Given the description of an element on the screen output the (x, y) to click on. 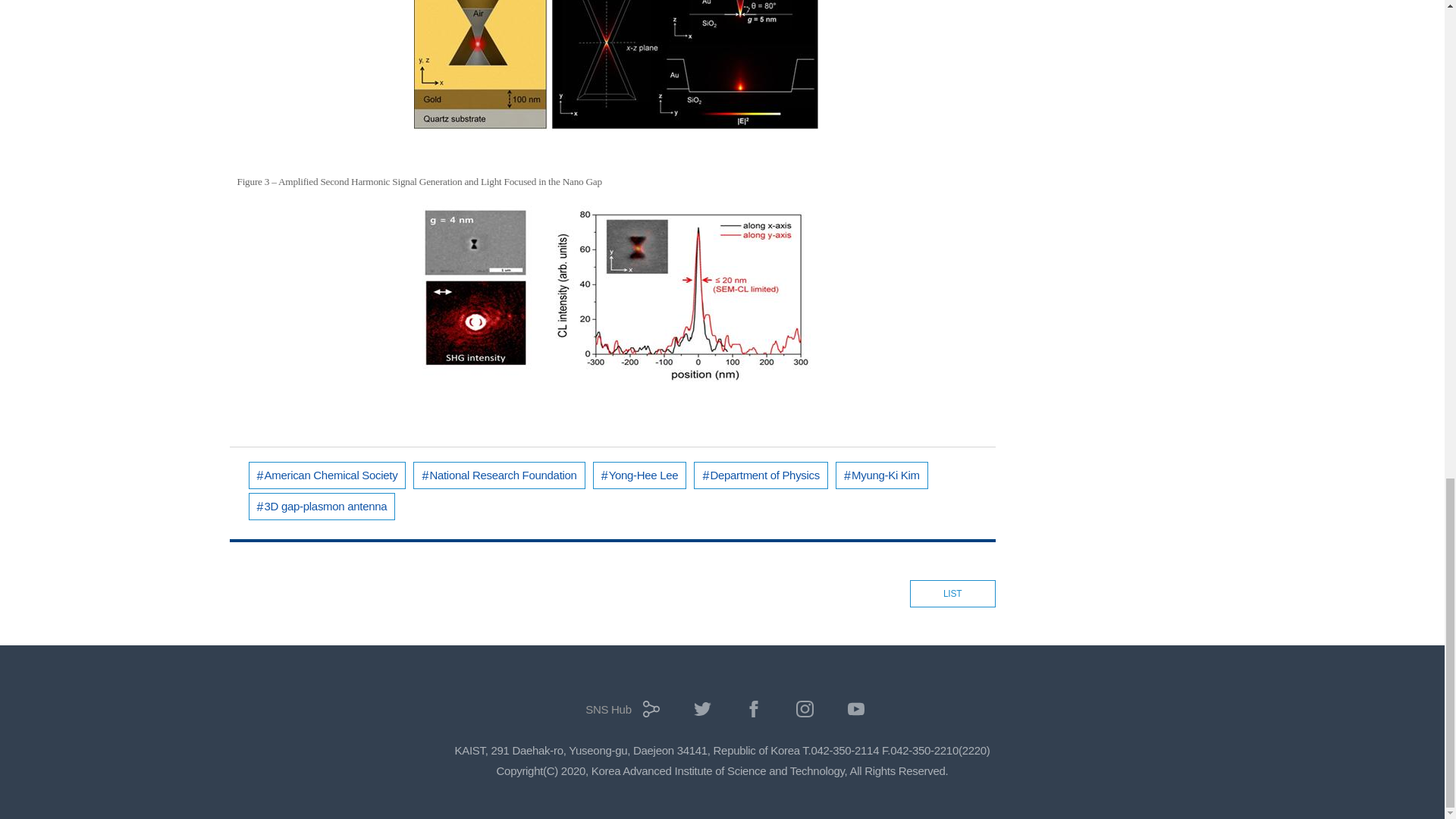
SNS Hub (619, 714)
National Research Foundation (499, 474)
Myung-Ki Kim (881, 474)
Yong-Hee Lee (639, 474)
3D gap-plasmon antenna (322, 506)
Department of Physics (761, 474)
LIST (952, 593)
American Chemical Society (327, 474)
